Given the description of an element on the screen output the (x, y) to click on. 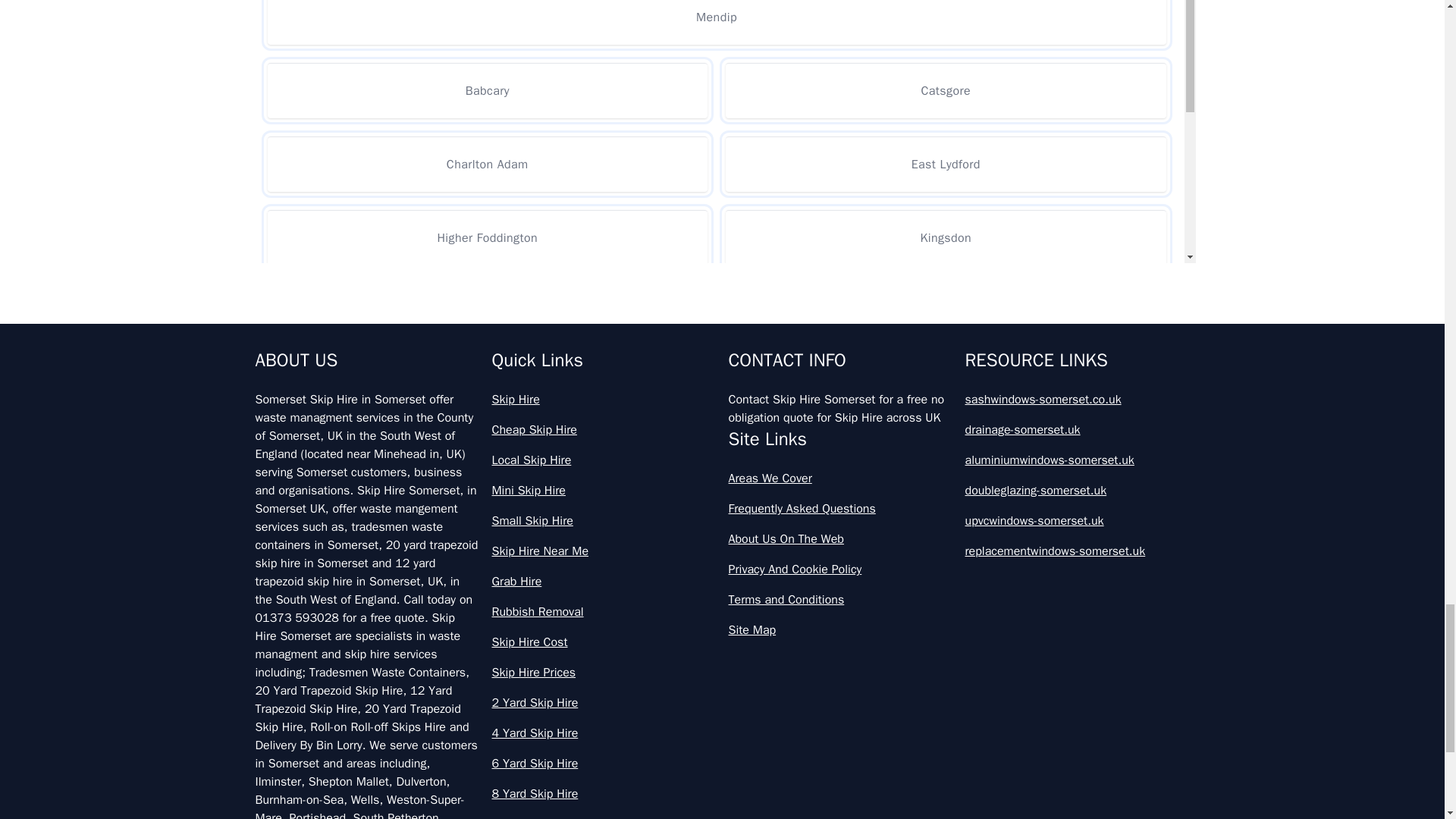
upvcwindows-somerset.uk (1076, 520)
Lower Somerton (945, 311)
Babcary (486, 90)
Mendip (716, 22)
drainage-somerset.uk (1076, 429)
doubleglazing-somerset.uk (1076, 490)
Higher Foddington (486, 237)
sashwindows-somerset.co.uk (1076, 399)
aluminiumwindows-somerset.uk (1076, 460)
Charlton Adam (486, 163)
Catsgore (945, 90)
Site Map (840, 629)
replacementwindows-somerset.uk (1076, 551)
Kingsdon (945, 237)
Lytes Cary (945, 384)
